Given the description of an element on the screen output the (x, y) to click on. 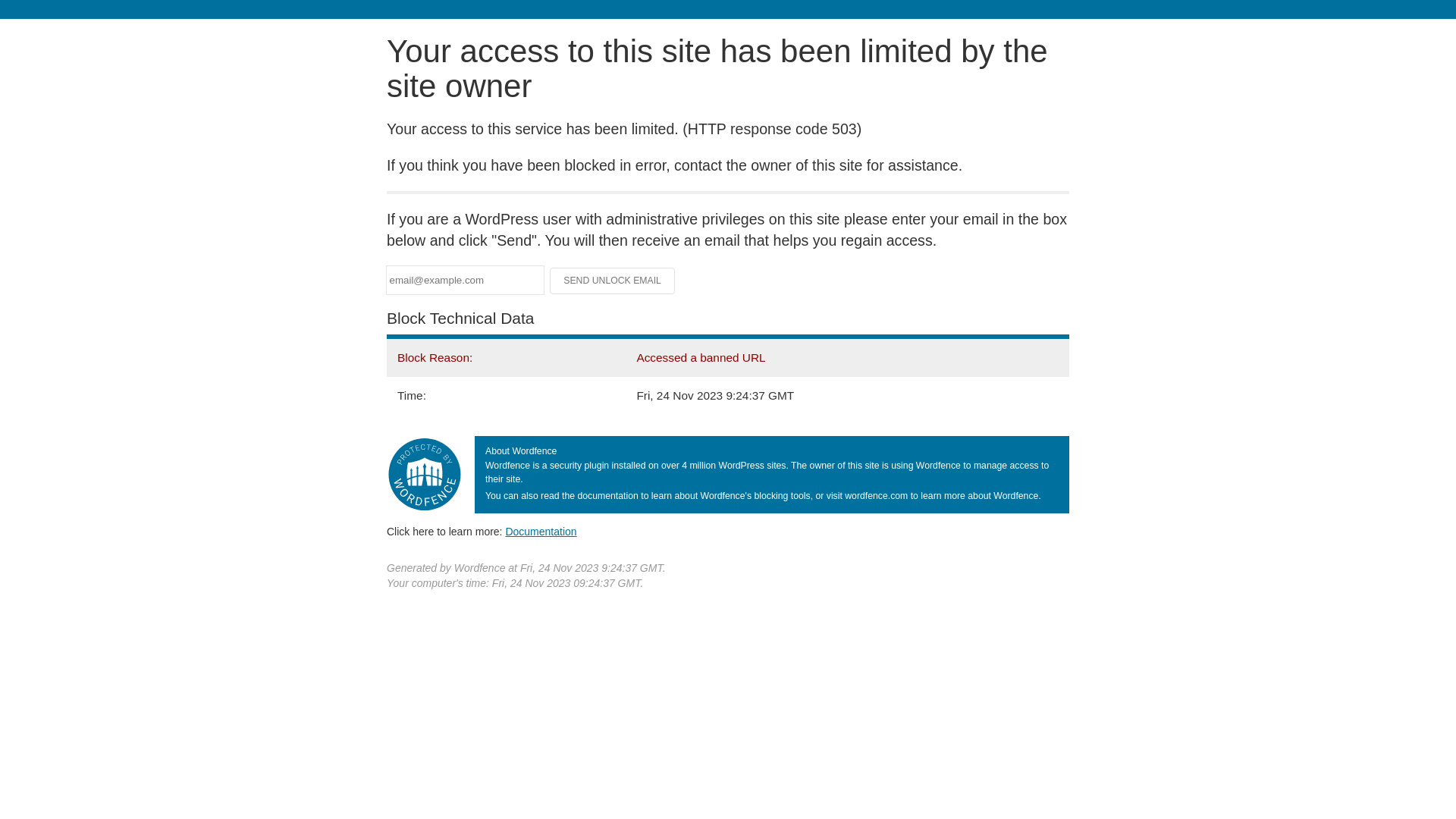
Send Unlock Email Element type: text (612, 280)
Documentation
(opens in new tab) Element type: text (540, 531)
